Given the description of an element on the screen output the (x, y) to click on. 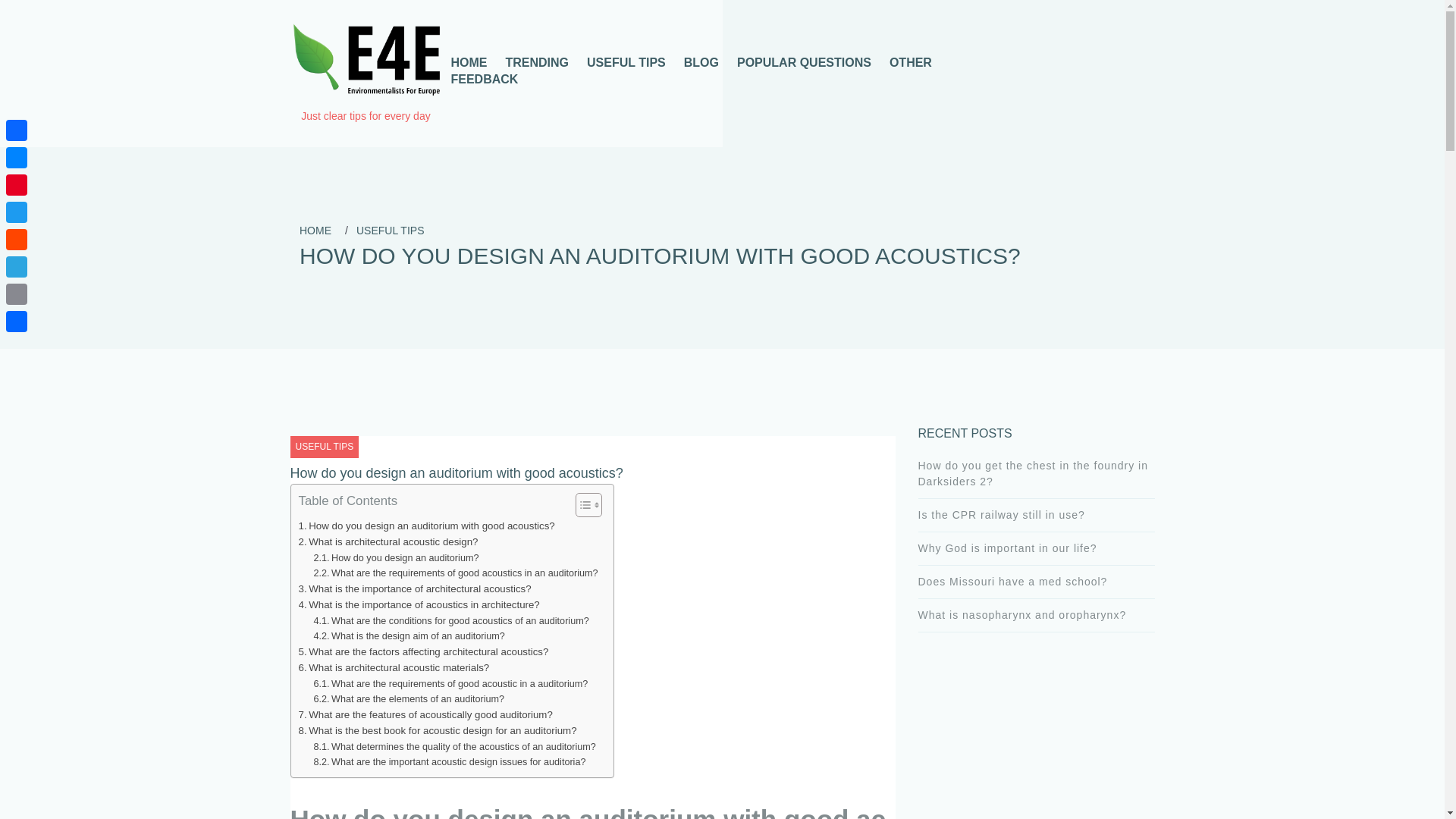
What are the important acoustic design issues for auditoria? (449, 761)
What is the design aim of an auditorium? (408, 635)
How do you design an auditorium with good acoustics? (426, 525)
What are the factors affecting architectural acoustics? (423, 651)
BLOG (701, 62)
How do you design an auditorium? (396, 557)
What are the conditions for good acoustics of an auditorium? (450, 620)
What is the best book for acoustic design for an auditorium? (437, 730)
